Given the description of an element on the screen output the (x, y) to click on. 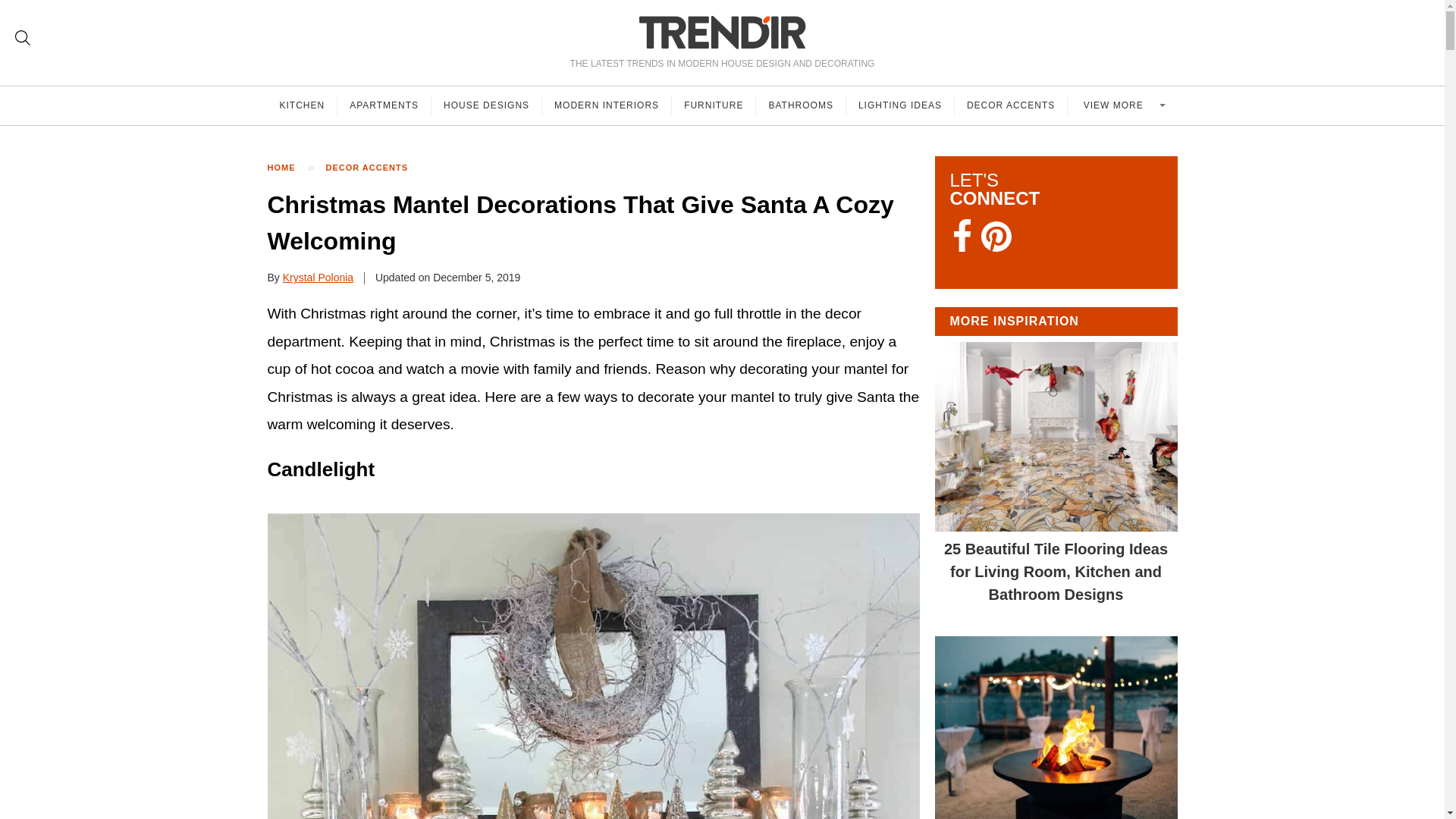
Trendir Home (722, 32)
Trendir Pinterest (995, 237)
HOME (288, 167)
BATHROOMS (800, 105)
HOUSE DESIGNS (485, 105)
Home (288, 167)
FURNITURE (713, 105)
LIGHTING IDEAS (900, 105)
KITCHEN (301, 105)
TRENDIR (722, 32)
Decor Accents (374, 167)
APARTMENTS (383, 105)
Krystal Polonia (317, 277)
Search (22, 37)
VIEW MORE (1122, 105)
